Given the description of an element on the screen output the (x, y) to click on. 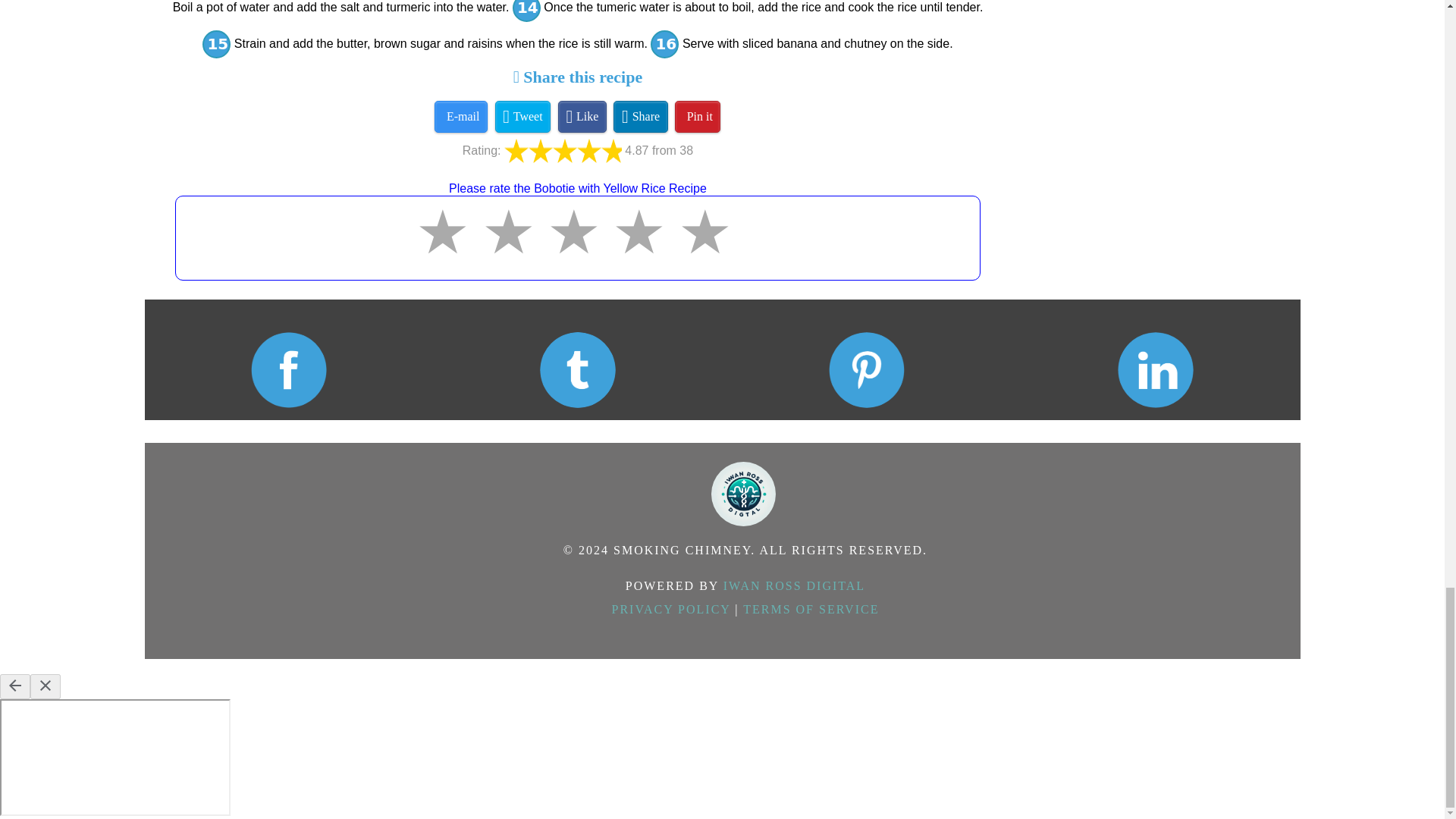
Very Good (579, 248)
Brilliant (644, 248)
Good (514, 248)
Fair (447, 248)
